Given the description of an element on the screen output the (x, y) to click on. 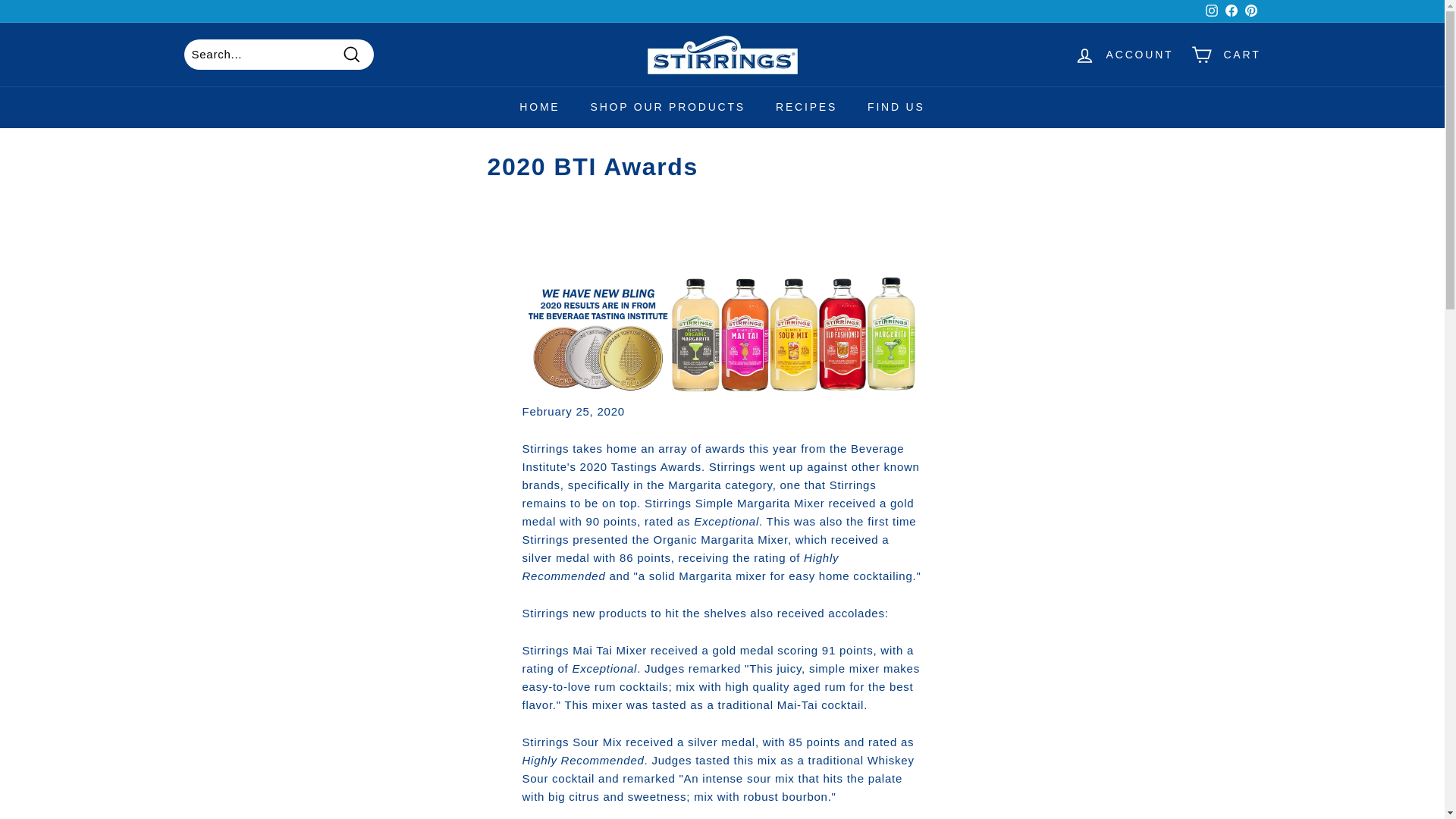
HOME (539, 106)
FIND US (895, 106)
SHOP OUR PRODUCTS (667, 106)
ACCOUNT (1123, 54)
RECIPES (805, 106)
